Given the description of an element on the screen output the (x, y) to click on. 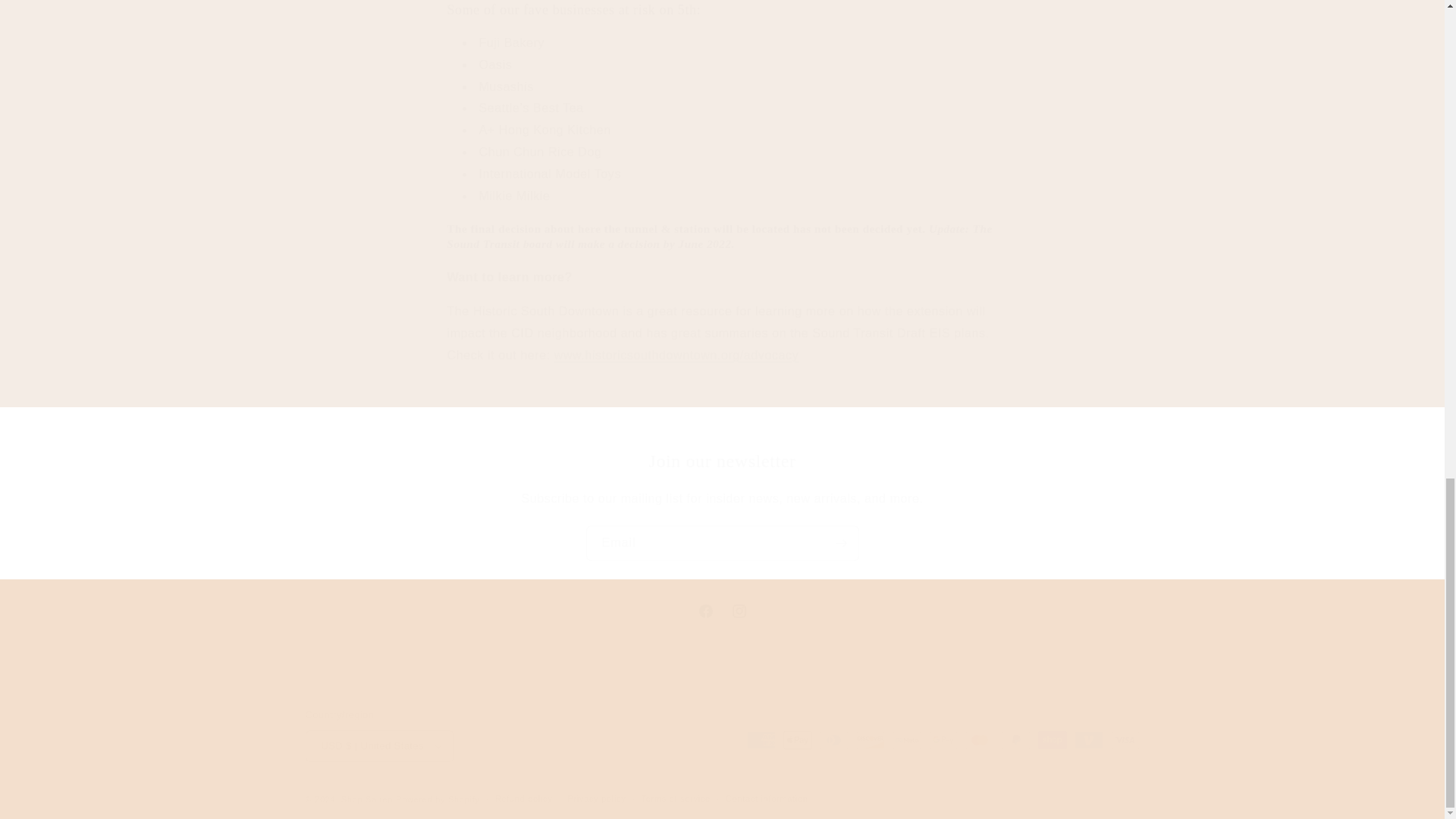
Email (722, 543)
Join our newsletter (721, 611)
